Given the description of an element on the screen output the (x, y) to click on. 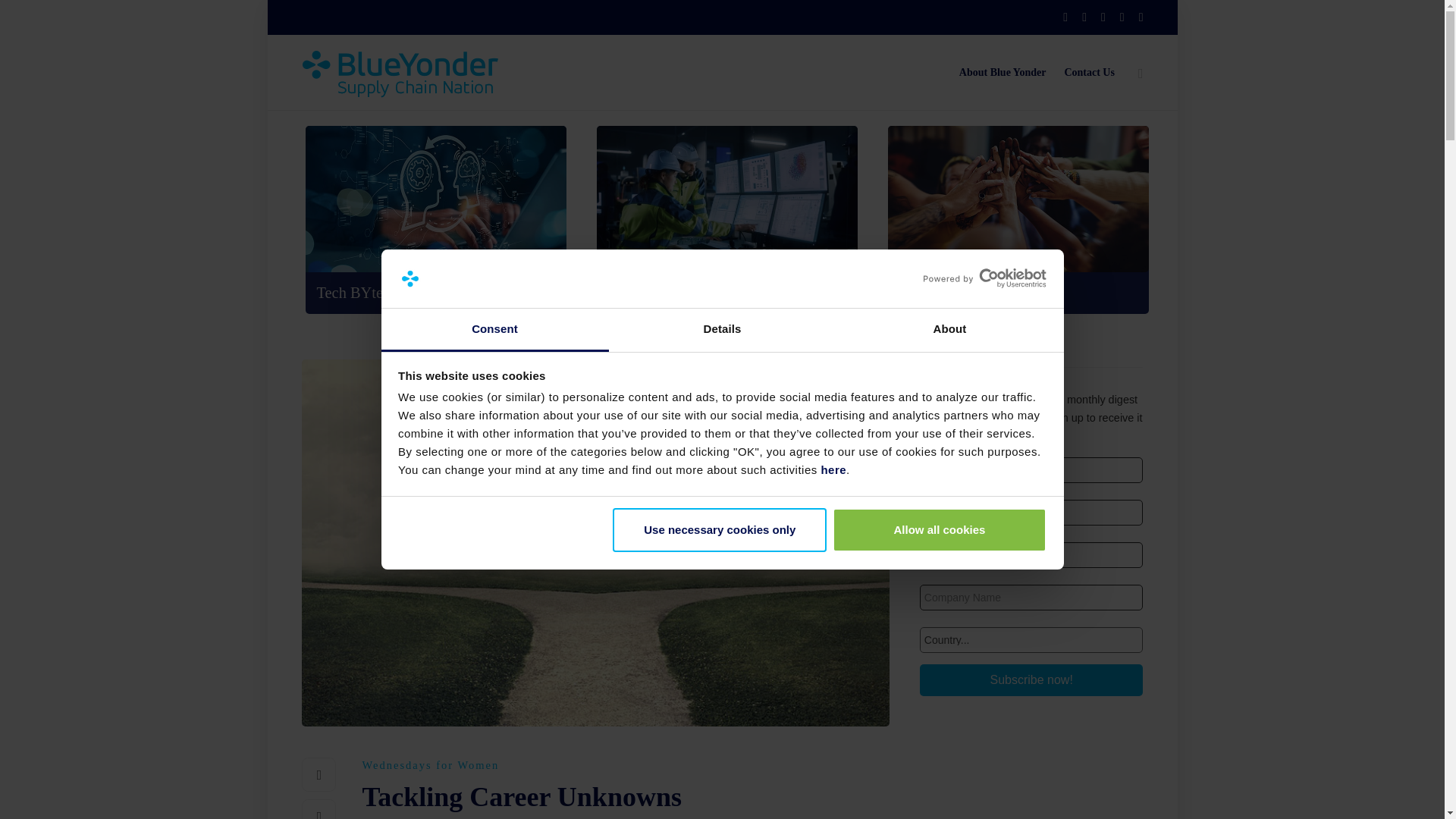
About (948, 330)
Consent (494, 330)
Details (721, 330)
here (833, 469)
